Given the description of an element on the screen output the (x, y) to click on. 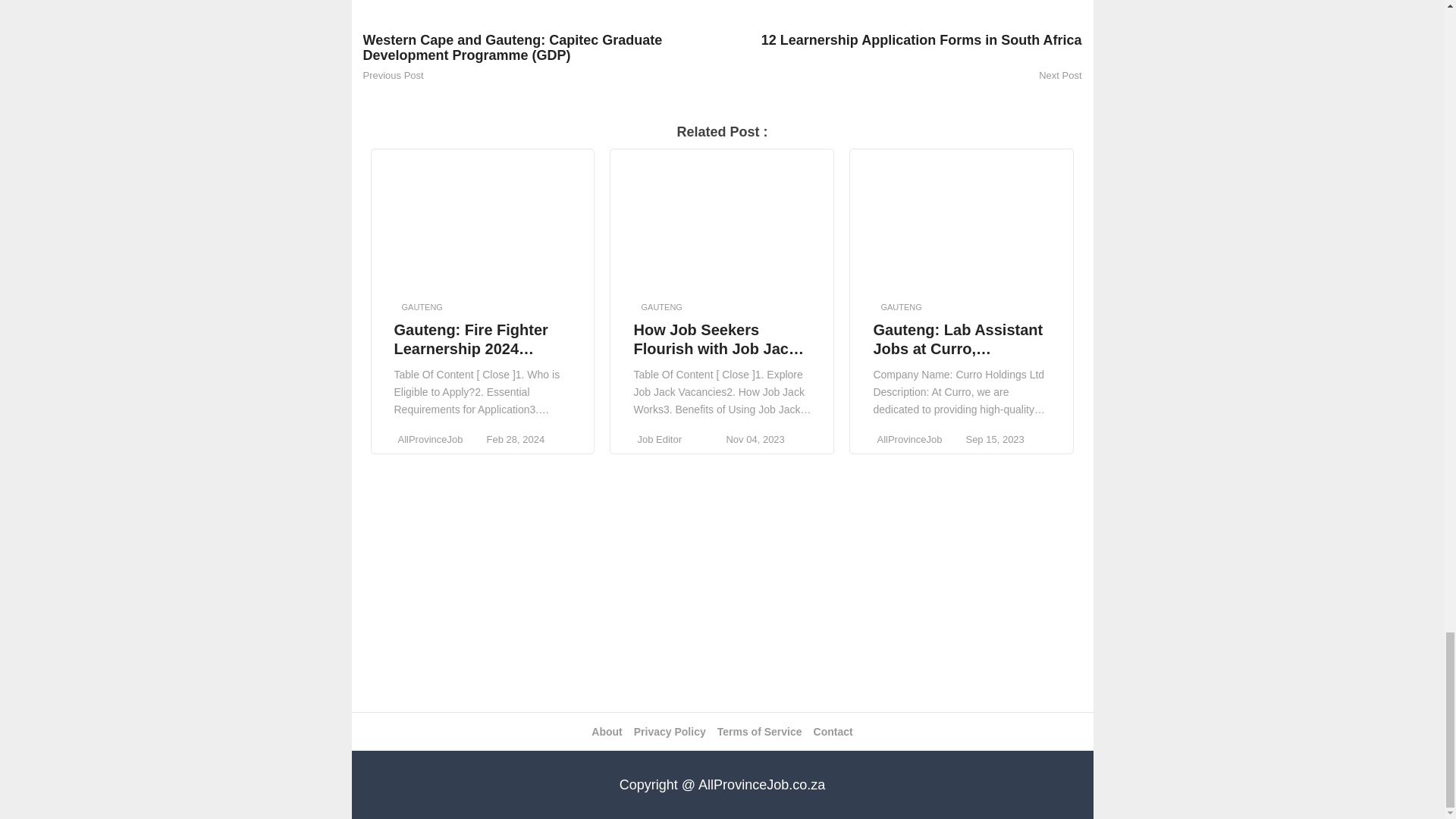
12 Learnership Application Forms in South Africa (901, 47)
Contact (833, 731)
Terms of Service (759, 731)
Privacy Policy (669, 731)
